Given the description of an element on the screen output the (x, y) to click on. 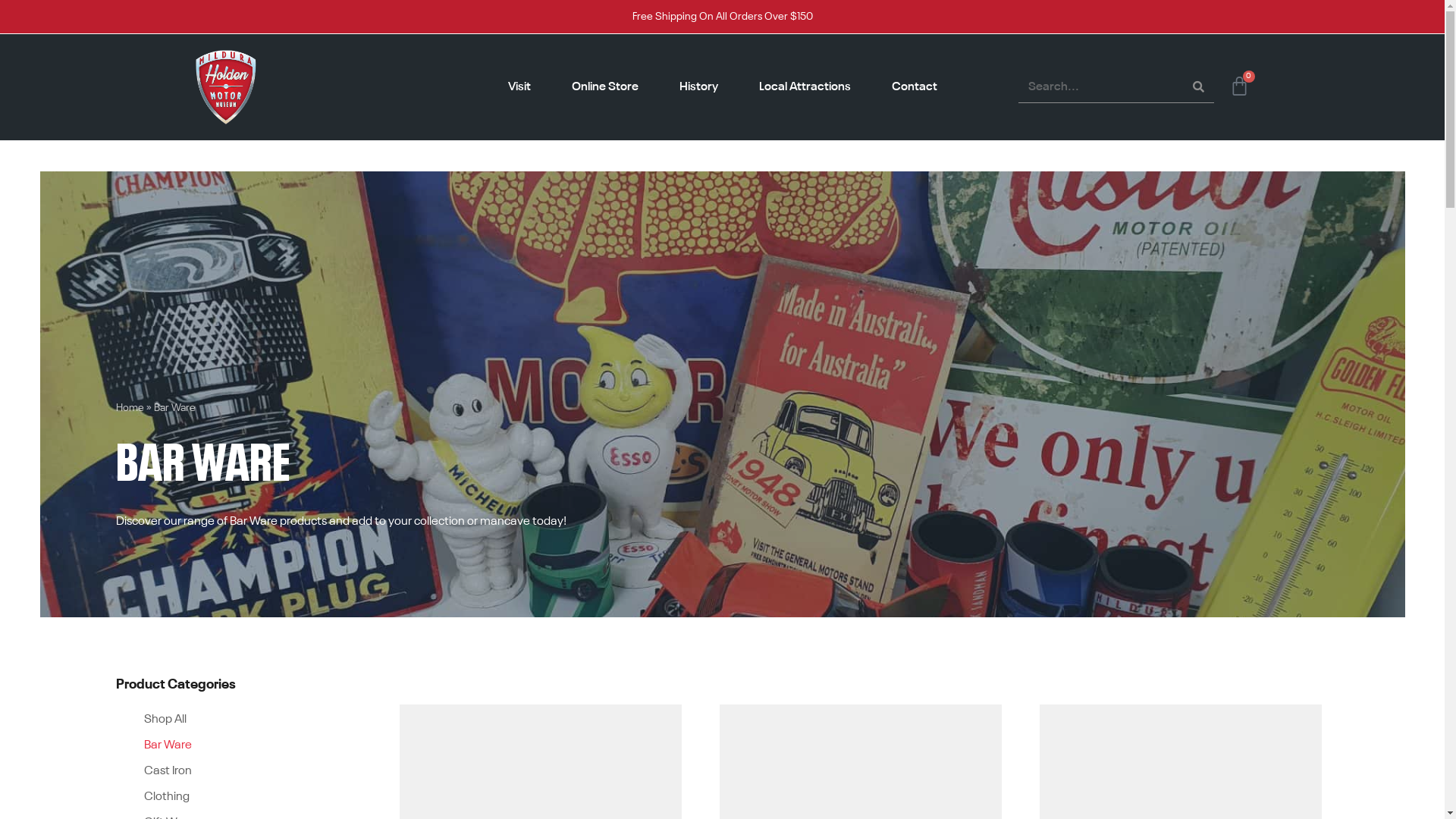
Clothing Element type: text (230, 796)
Local Attractions Element type: text (804, 86)
0 Element type: text (1238, 86)
Bar Ware Element type: text (230, 745)
History Element type: text (698, 86)
Shop All Element type: text (230, 719)
Online Store Element type: text (604, 86)
Contact Element type: text (914, 86)
Home Element type: text (129, 408)
Cast Iron Element type: text (230, 771)
Visit Element type: text (519, 86)
